Given the description of an element on the screen output the (x, y) to click on. 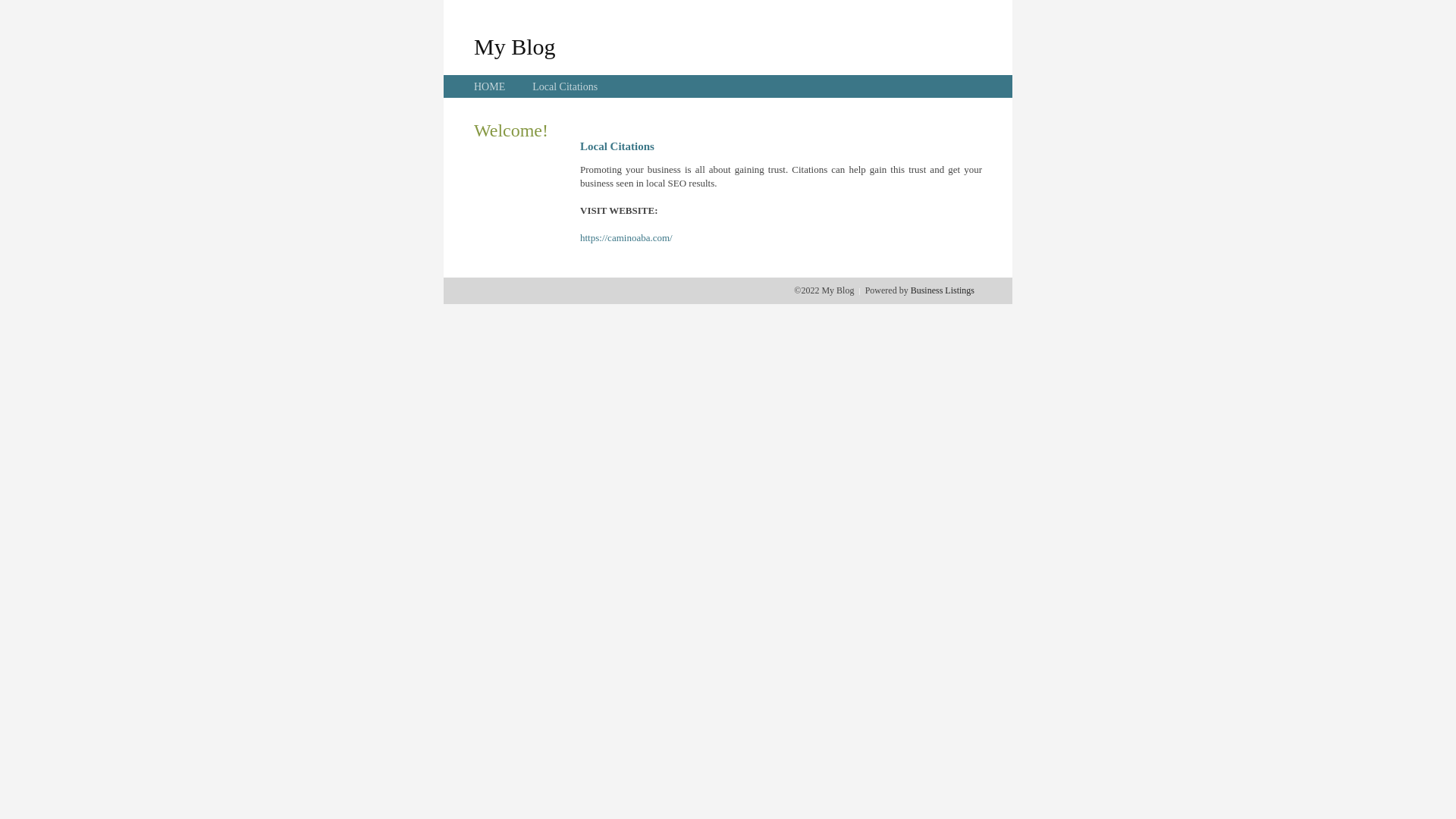
Local Citations Element type: text (564, 86)
Business Listings Element type: text (942, 290)
My Blog Element type: text (514, 46)
HOME Element type: text (489, 86)
https://caminoaba.com/ Element type: text (626, 237)
